Given the description of an element on the screen output the (x, y) to click on. 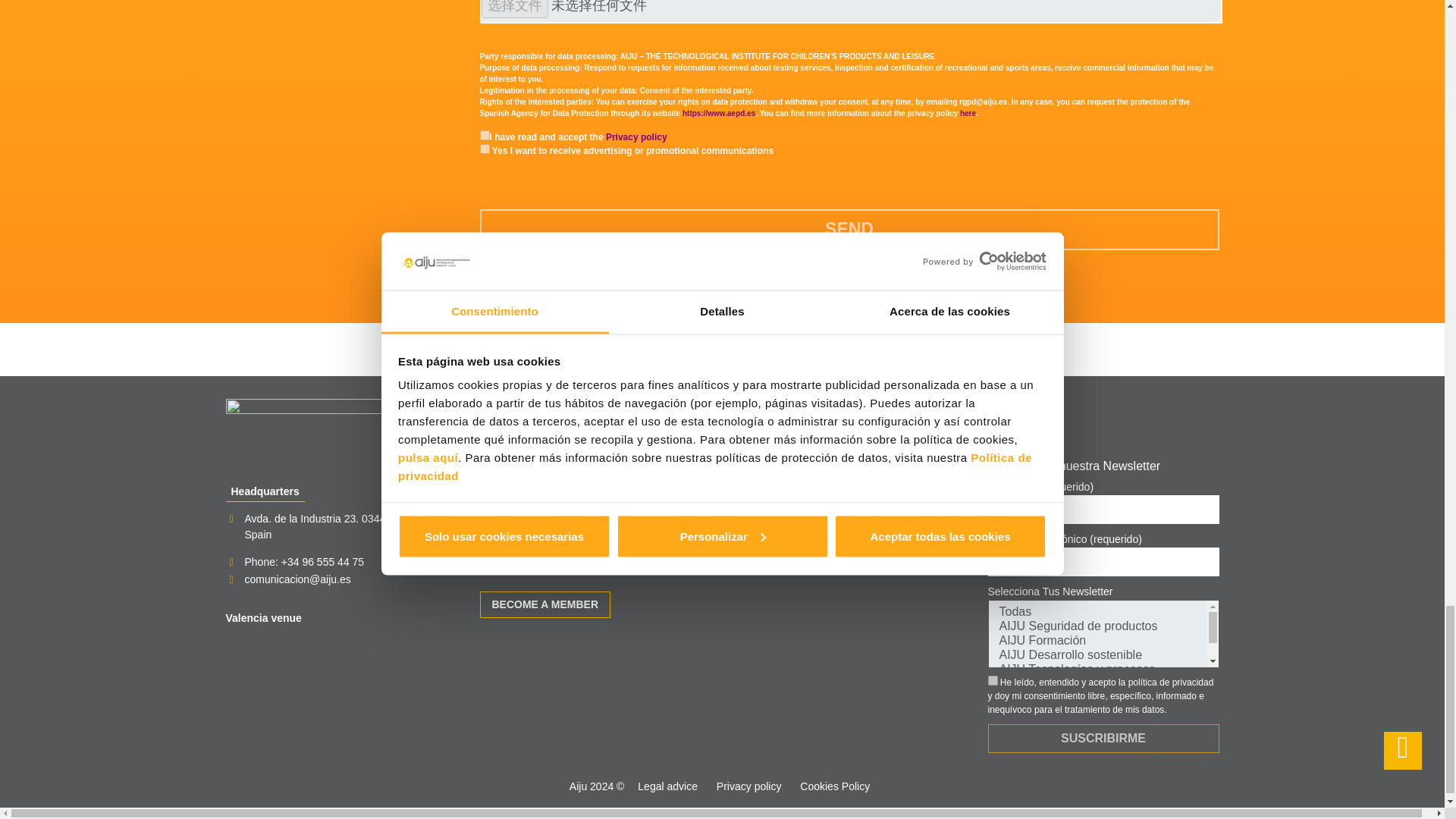
SEND (848, 229)
1 (992, 680)
1 (484, 135)
Suscribirme (1102, 737)
